Given the description of an element on the screen output the (x, y) to click on. 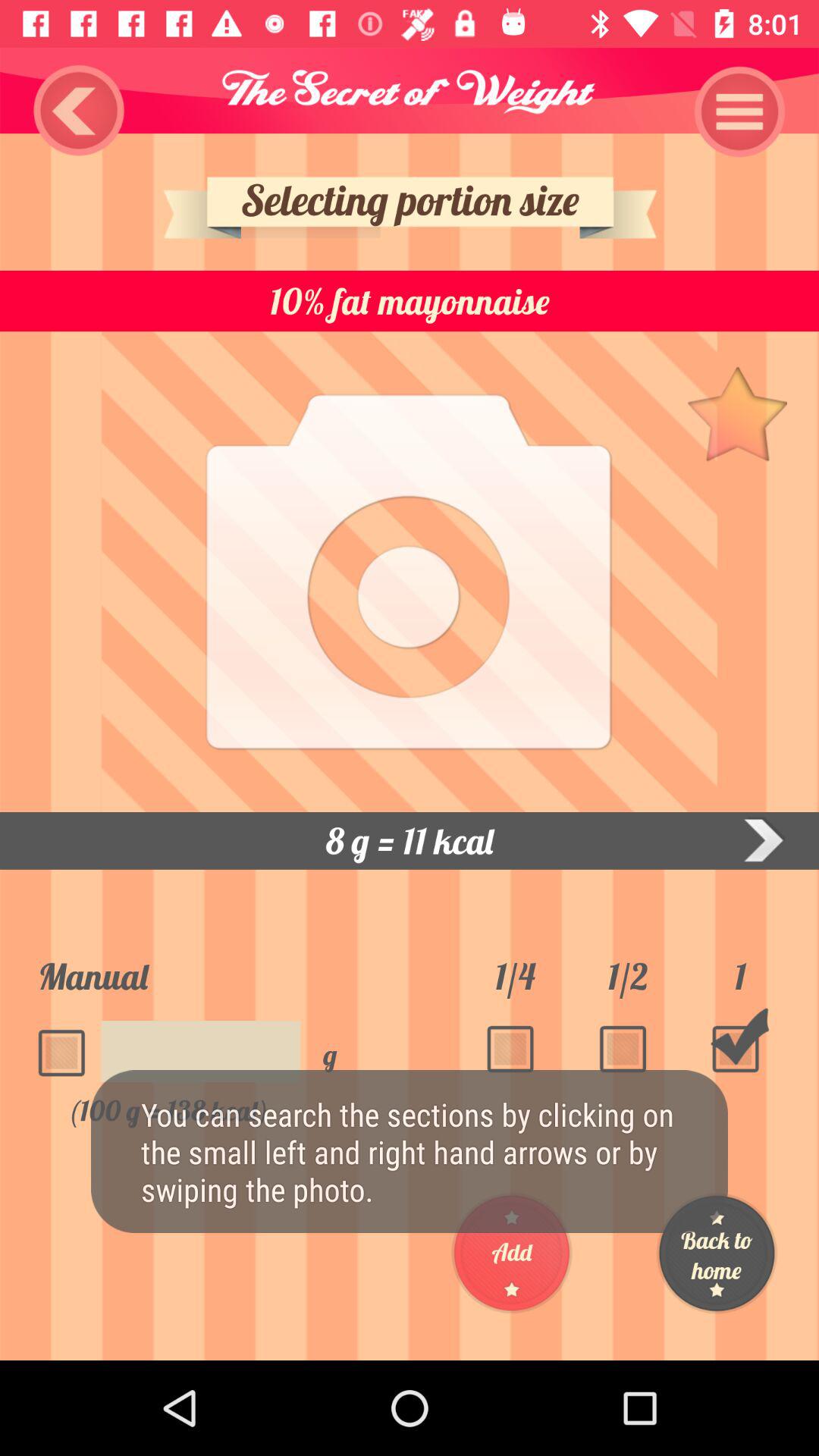
click on the box below 14 number (514, 1040)
click on the checkbox below text 1 (739, 1040)
select the three horizontal lines icon (739, 111)
move to text which is above the selecting portion size (409, 90)
click on the first rectangular box below manual (66, 1044)
